Given the description of an element on the screen output the (x, y) to click on. 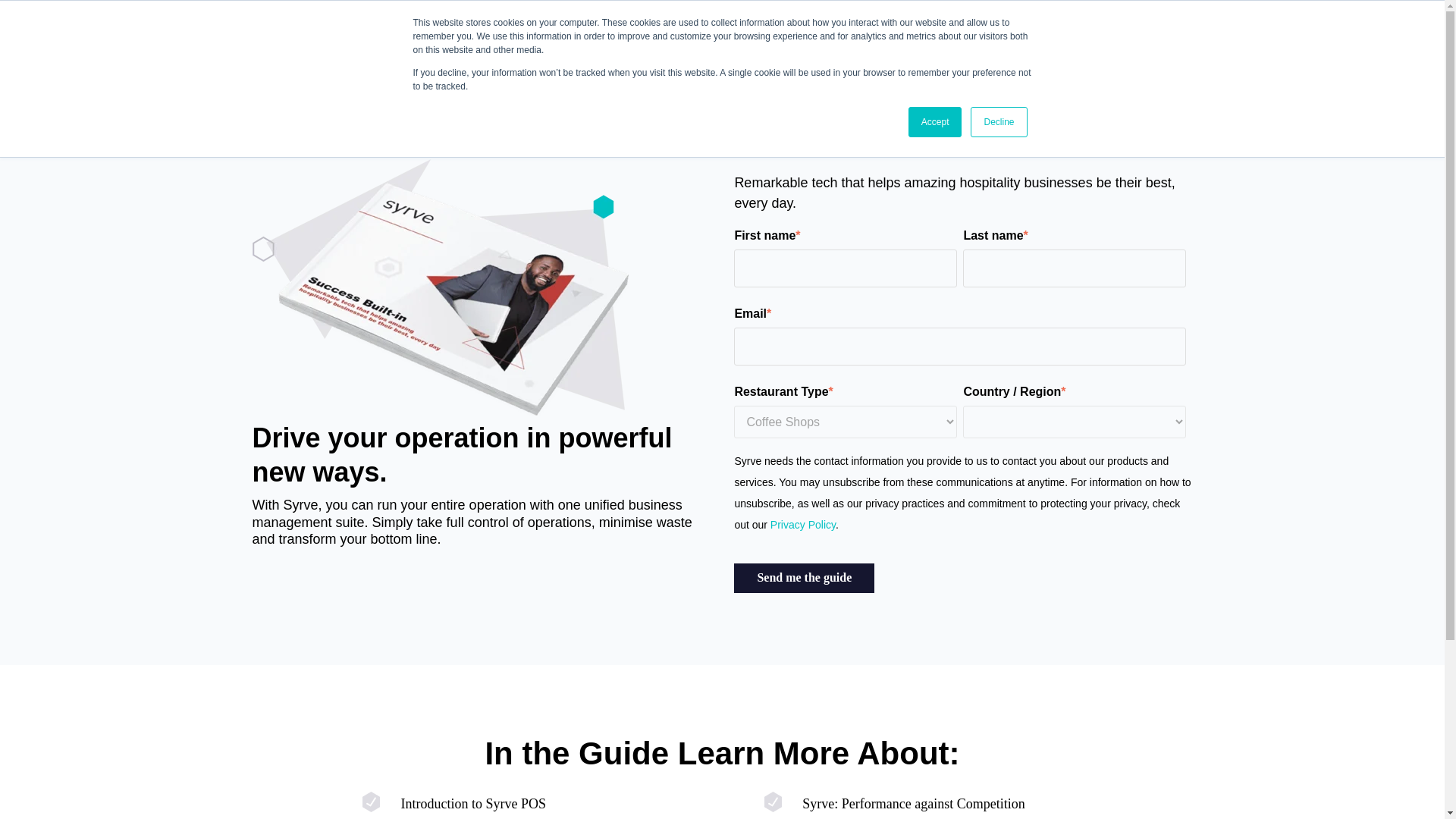
syrve (178, 24)
Send me the guide (804, 577)
Accept (935, 122)
Send me the guide (804, 577)
Decline (998, 122)
Privacy Policy (801, 524)
